Given the description of an element on the screen output the (x, y) to click on. 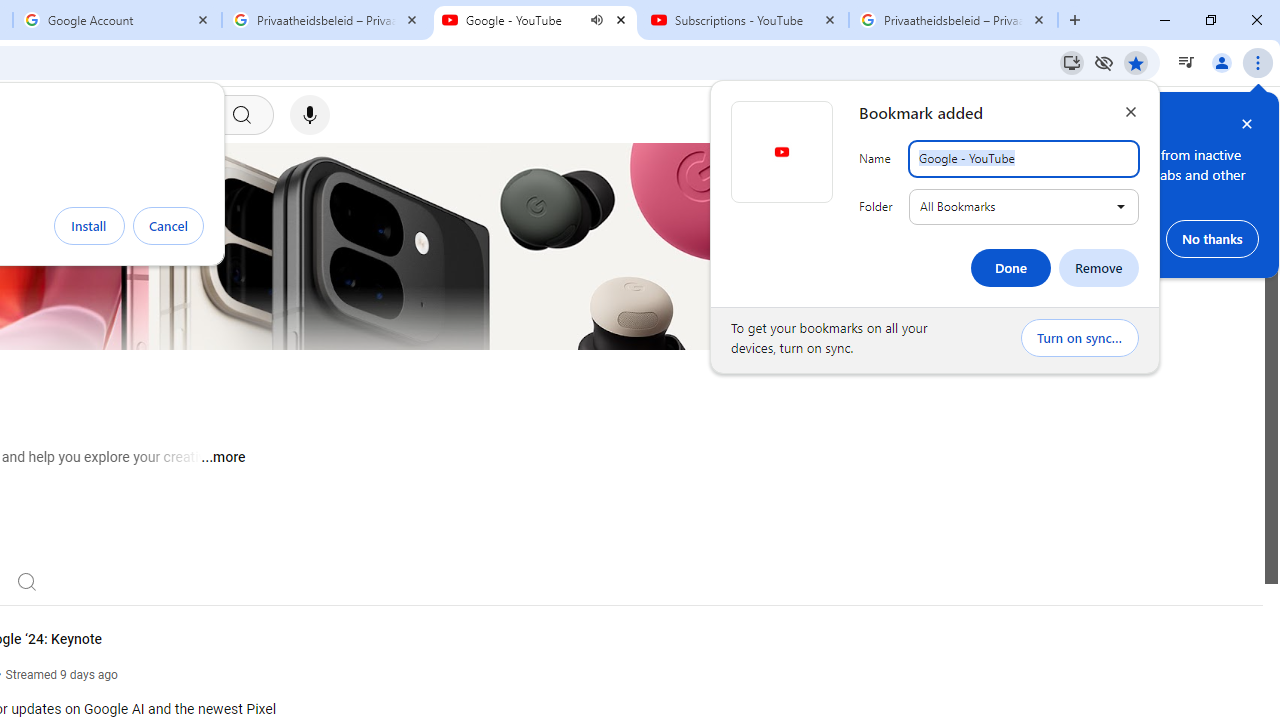
Bookmark name (1023, 159)
Install (89, 225)
Remove (1098, 268)
Done (1010, 268)
Close help bubble (1247, 124)
Cancel (168, 225)
No thanks (1212, 238)
